Given the description of an element on the screen output the (x, y) to click on. 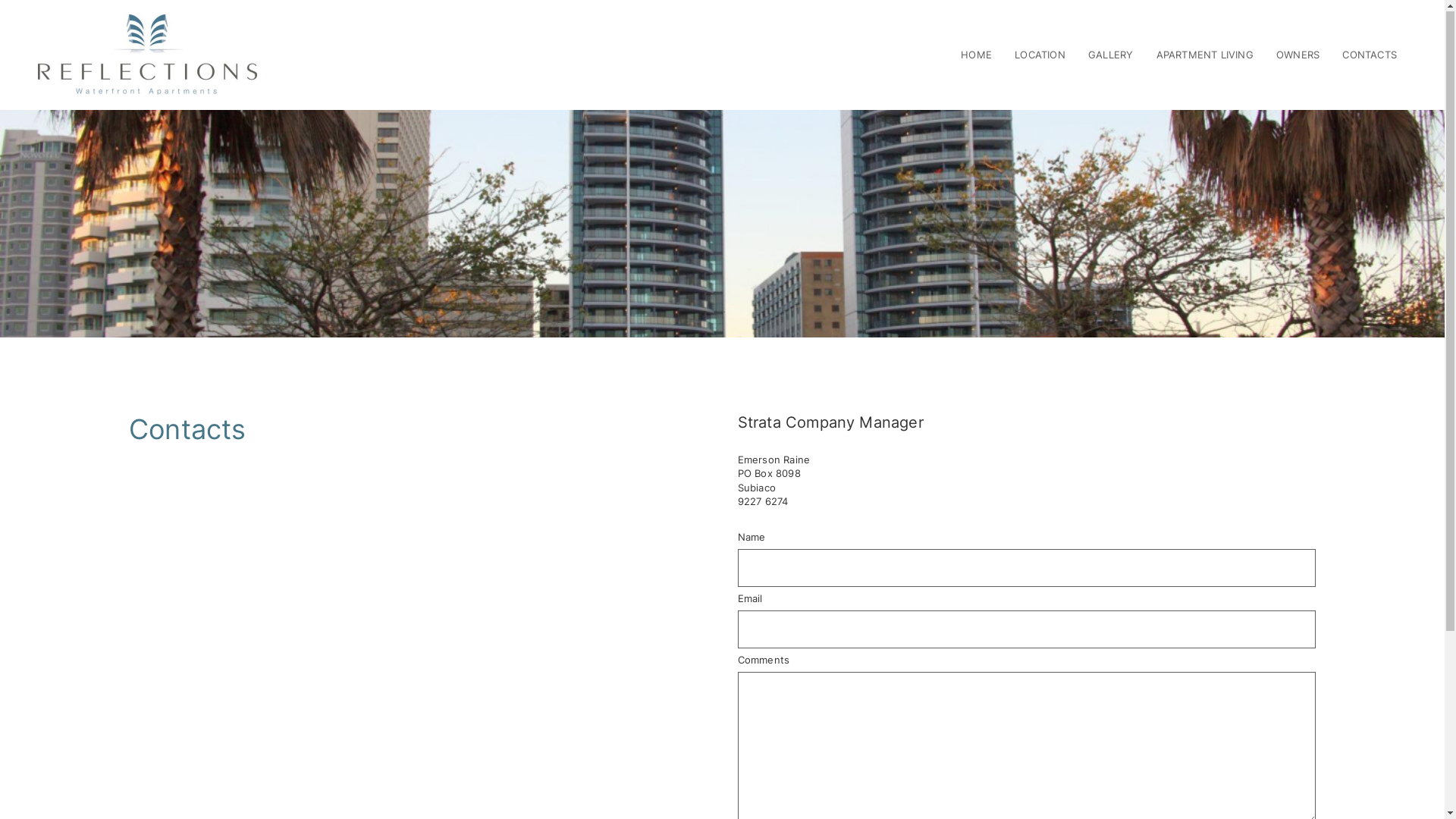
HOME Element type: text (975, 55)
LOCATION Element type: text (1039, 55)
APARTMENT LIVING Element type: text (1204, 55)
CONTACTS Element type: text (1369, 55)
GALLERY Element type: text (1110, 55)
OWNERS Element type: text (1297, 55)
